Given the description of an element on the screen output the (x, y) to click on. 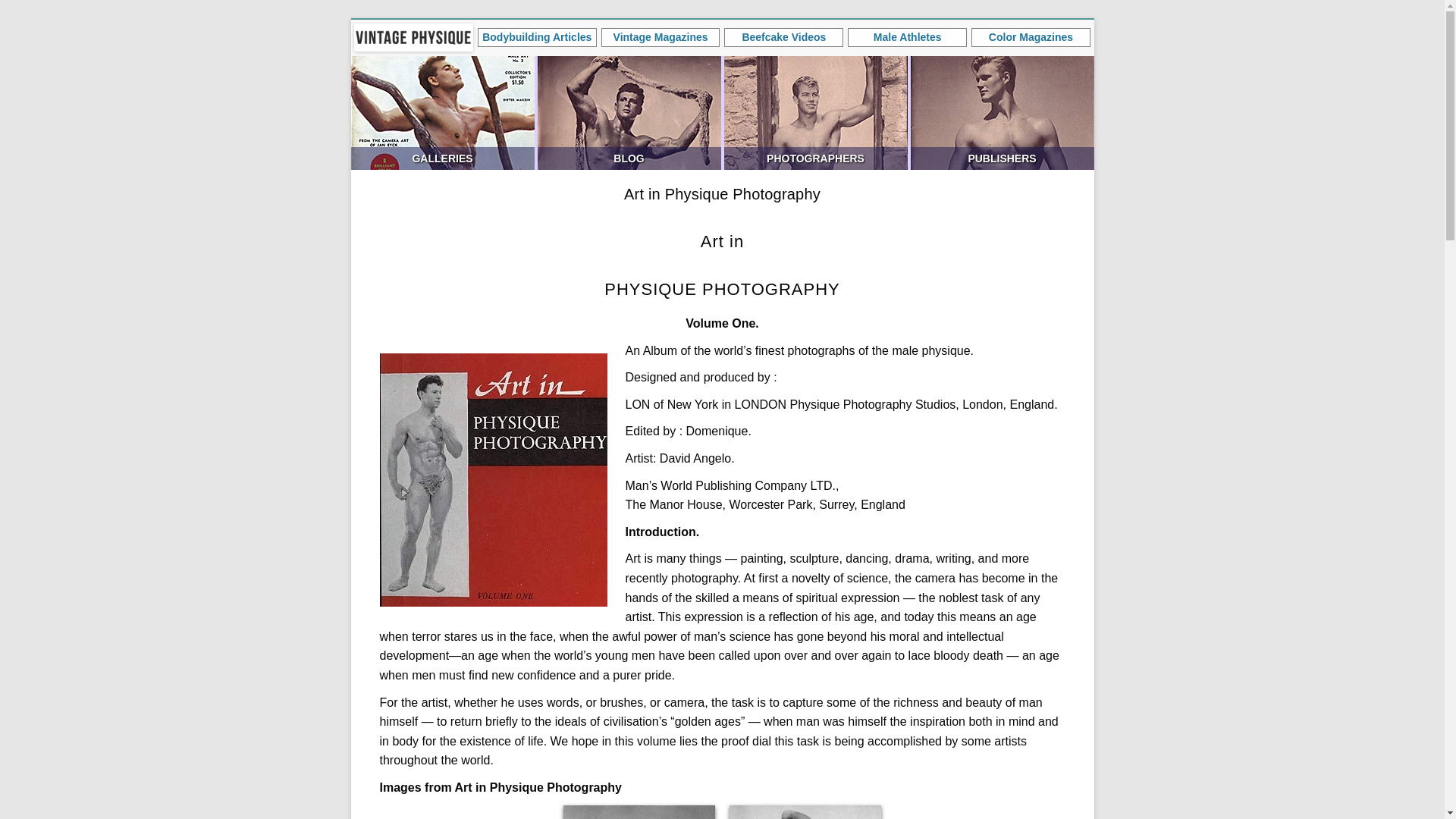
Male Athletes (906, 36)
BLOG (628, 112)
Bodybuilding Articles (537, 36)
Beefcake Videos (783, 36)
GALLERIES (442, 112)
Color Magazines (1031, 36)
Vintage Magazines (660, 36)
PUBLISHERS (1001, 112)
Art in Physique Photography magazine (492, 479)
PHOTOGRAPHERS (815, 112)
